Given the description of an element on the screen output the (x, y) to click on. 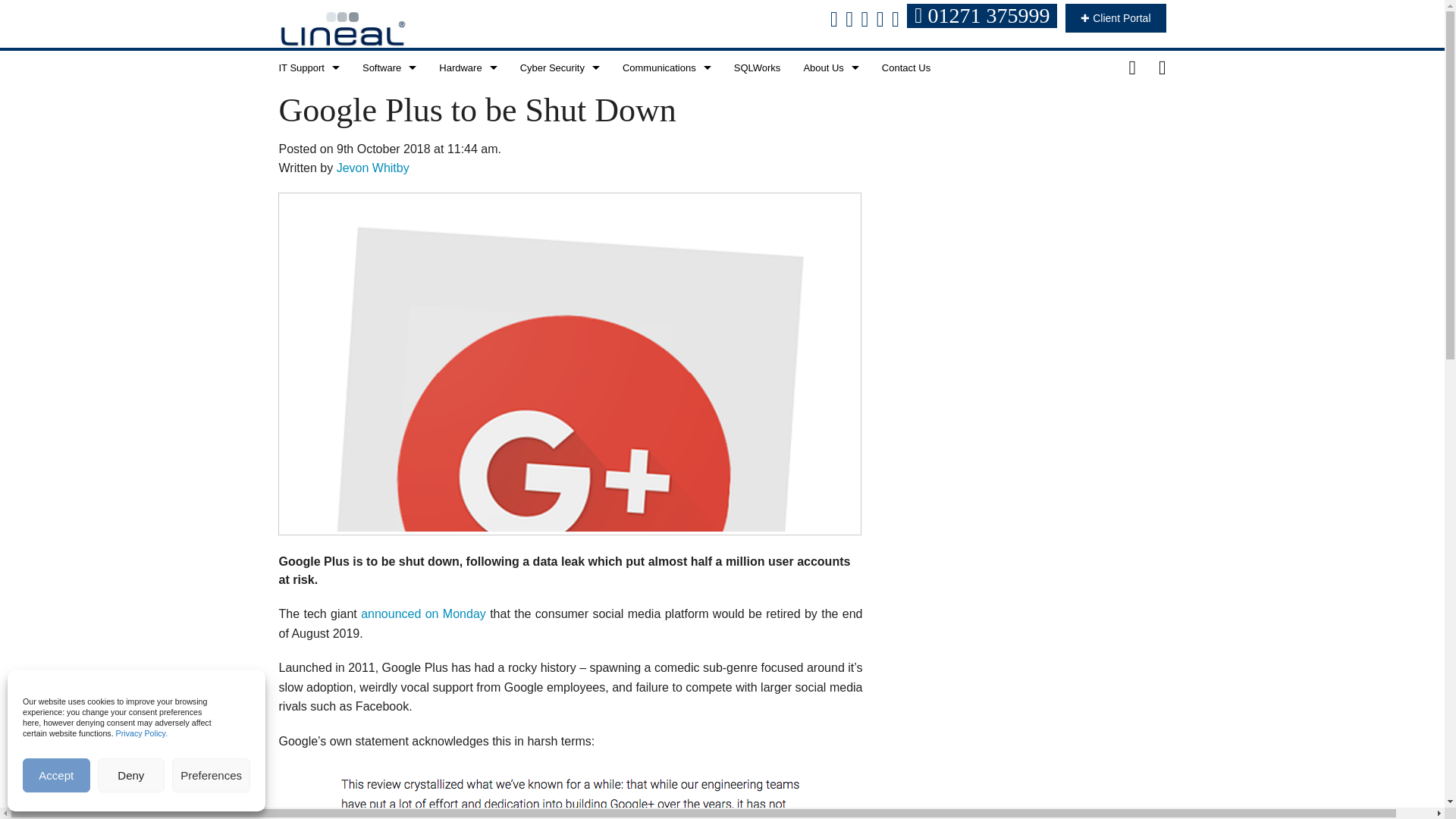
01271 375999 (982, 15)
IT Support (308, 67)
Business IT Support (308, 101)
Computer Repairs and Upgrades (308, 170)
Cloud IT Services (308, 135)
Accept (56, 775)
Deny (131, 775)
Preferences (210, 775)
Privacy Policy. (142, 732)
01271 375999 (984, 18)
